Given the description of an element on the screen output the (x, y) to click on. 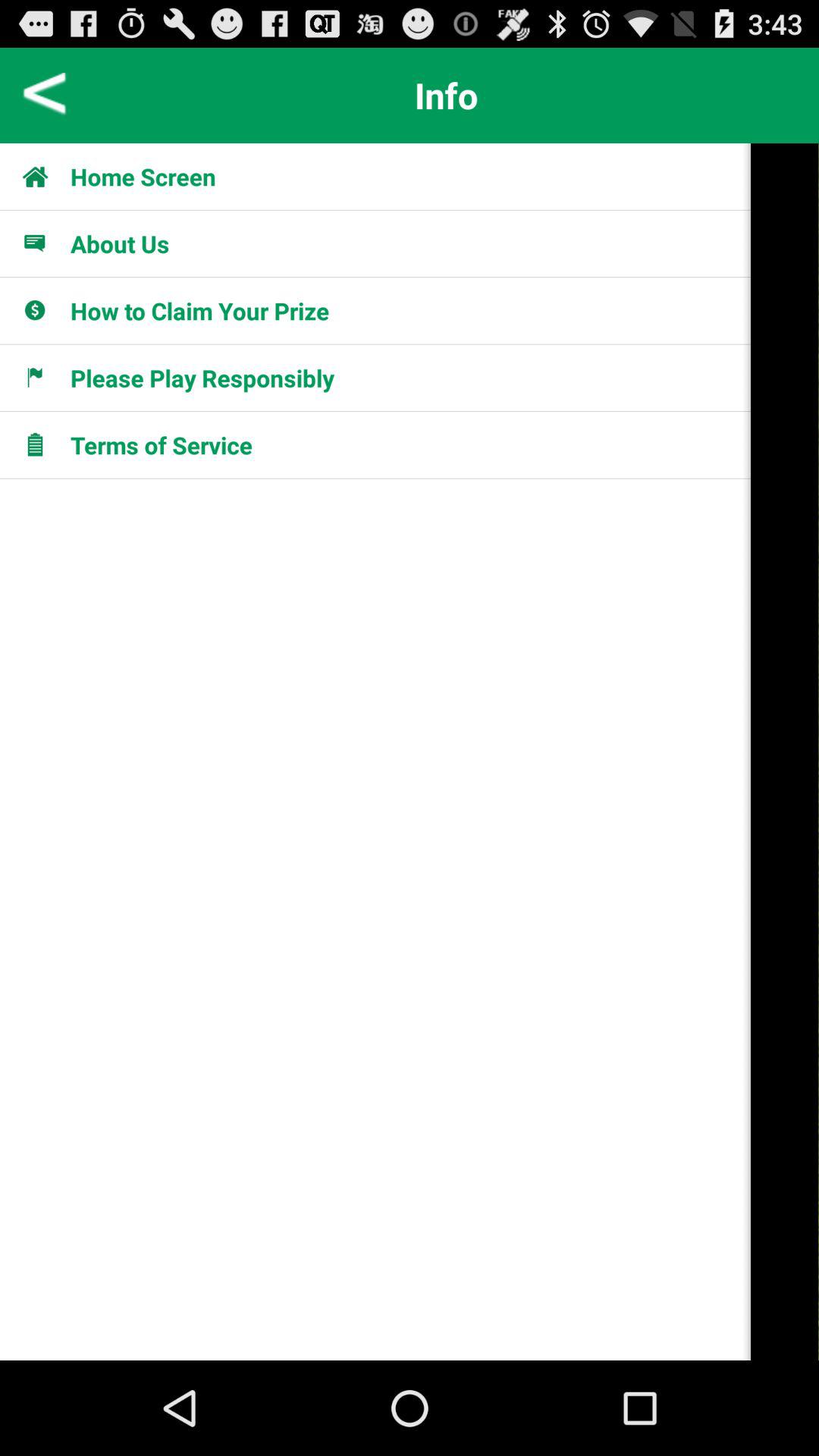
go to previous (44, 94)
